Given the description of an element on the screen output the (x, y) to click on. 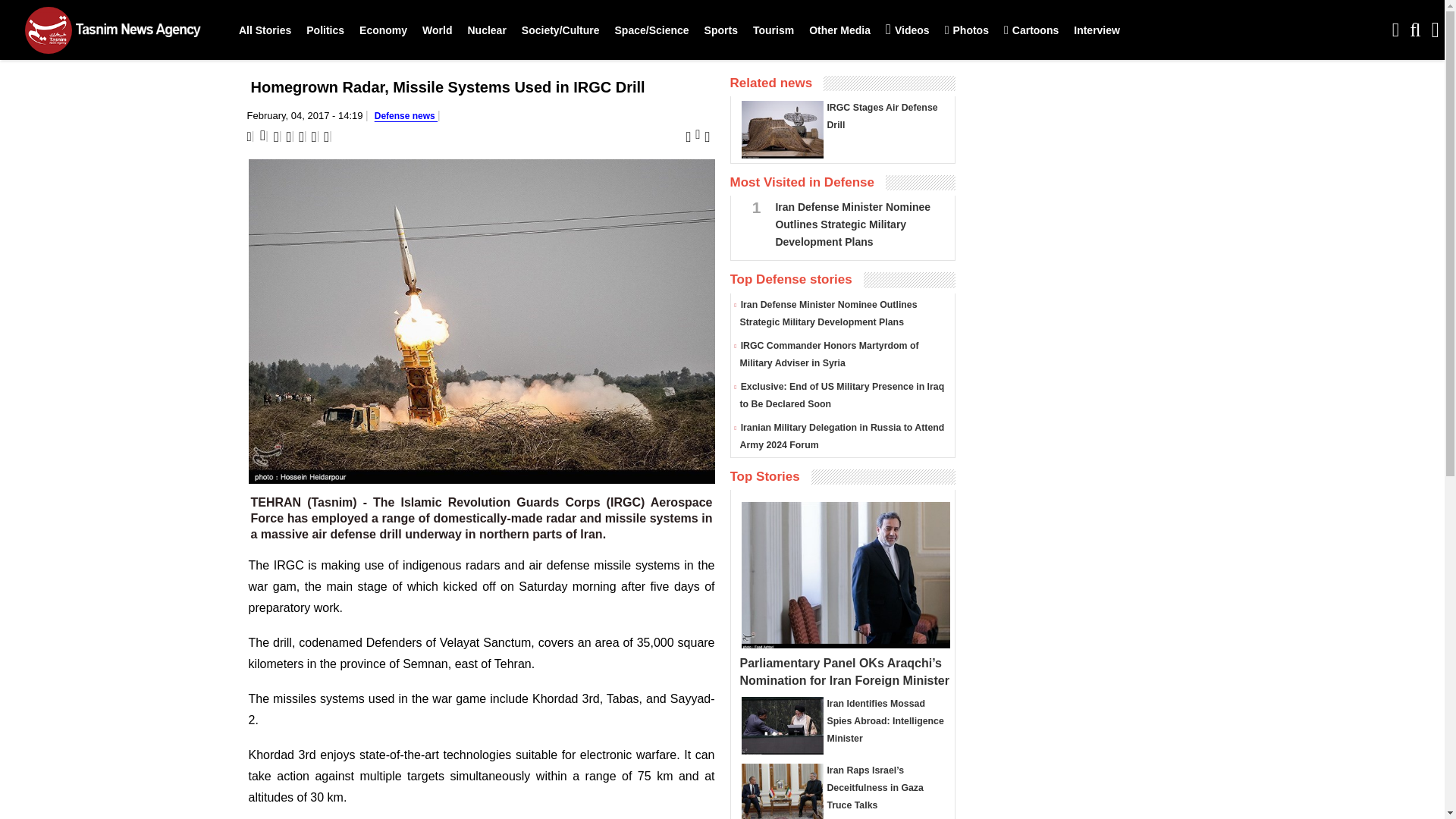
Interview (1095, 30)
Tourism (773, 30)
Cartoons (1030, 30)
Other Media (839, 30)
Economy (383, 30)
All Stories (264, 30)
Photos (966, 30)
Videos (907, 30)
